Given the description of an element on the screen output the (x, y) to click on. 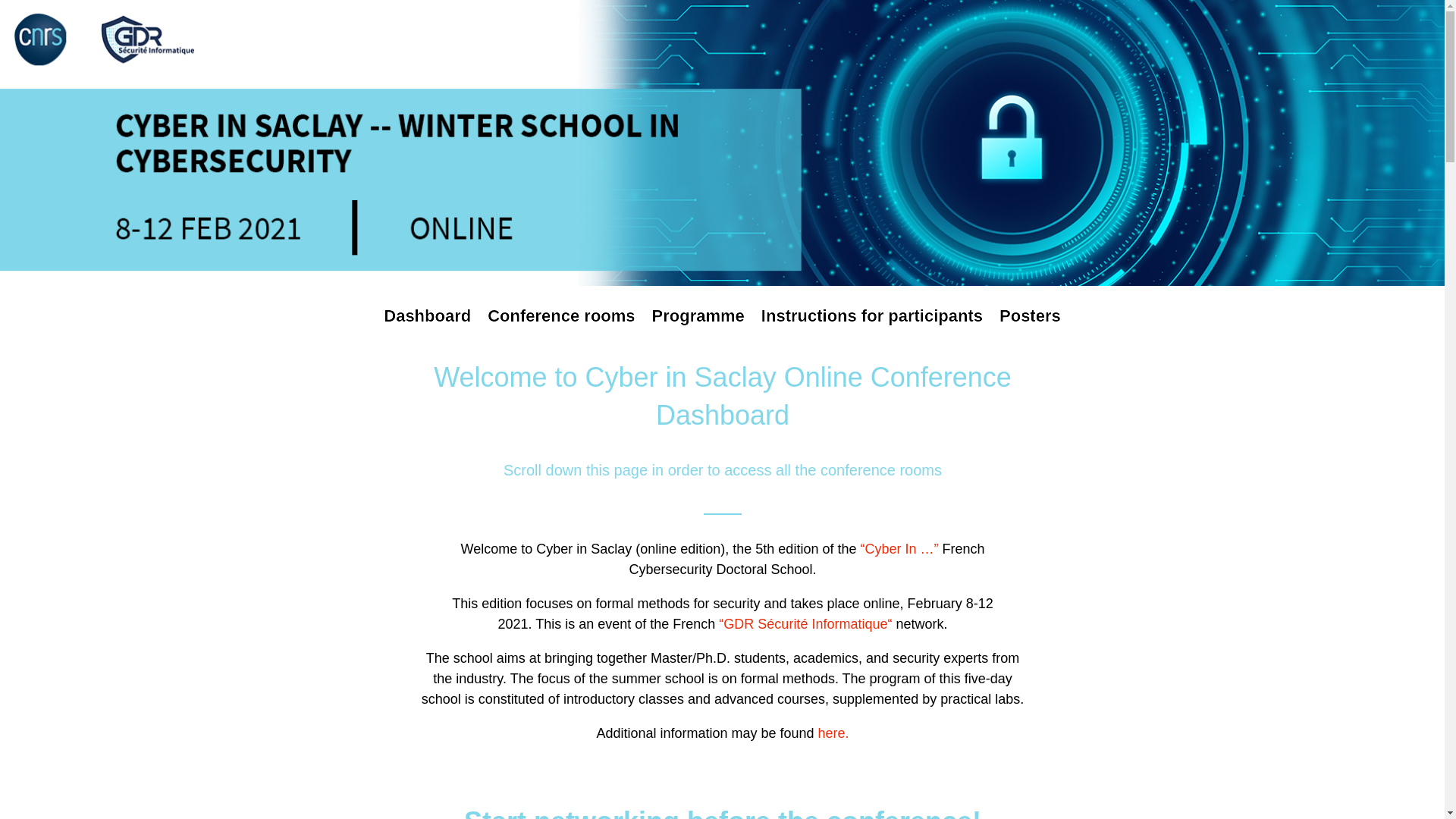
Programme (698, 327)
Posters (1029, 327)
Dashboard (427, 327)
Conference rooms (560, 327)
here. (831, 740)
Instructions for participants (871, 327)
